Given the description of an element on the screen output the (x, y) to click on. 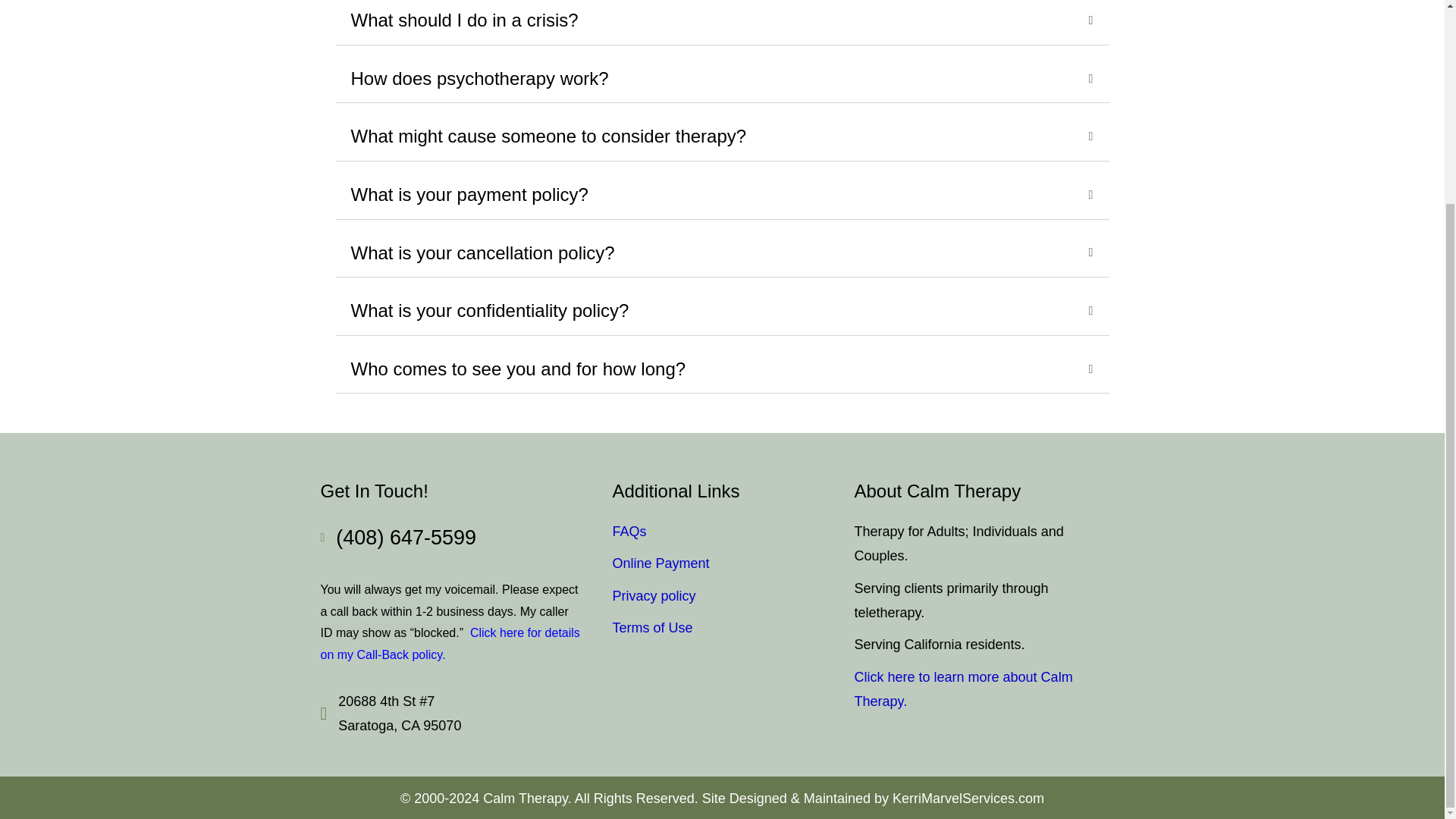
Terms of Use (652, 627)
Privacy policy (653, 595)
Online Payment (661, 563)
Click here to learn more about Calm Therapy. (962, 689)
FAQs (629, 531)
Click here for details on my Call-Back policy. (449, 643)
